Given the description of an element on the screen output the (x, y) to click on. 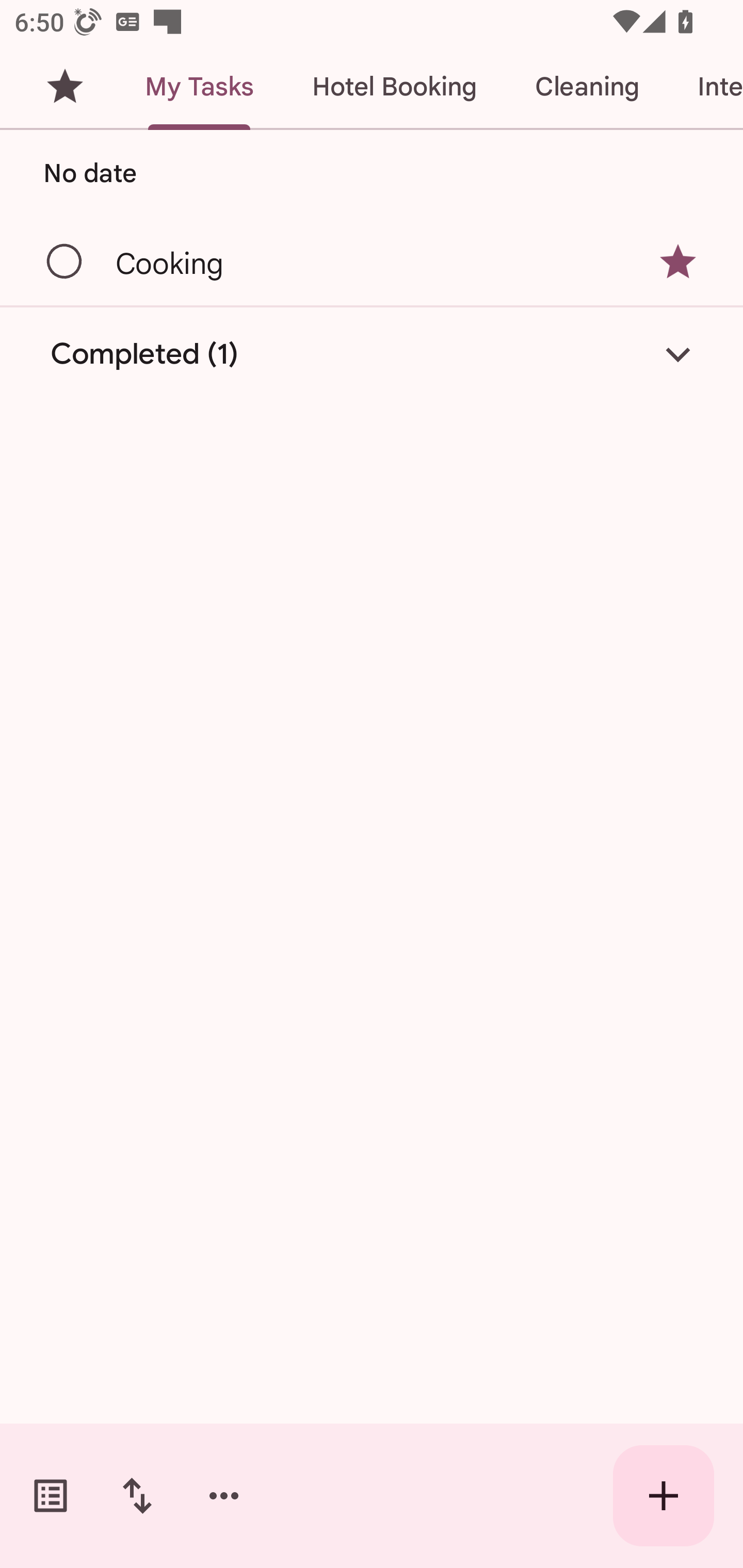
Starred (64, 86)
Hotel Booking (394, 86)
Cleaning (586, 86)
Remove star (677, 261)
Mark as complete (64, 261)
Completed (1) (371, 354)
Switch task lists (50, 1495)
Create new task (663, 1495)
Change sort order (136, 1495)
More options (223, 1495)
